Given the description of an element on the screen output the (x, y) to click on. 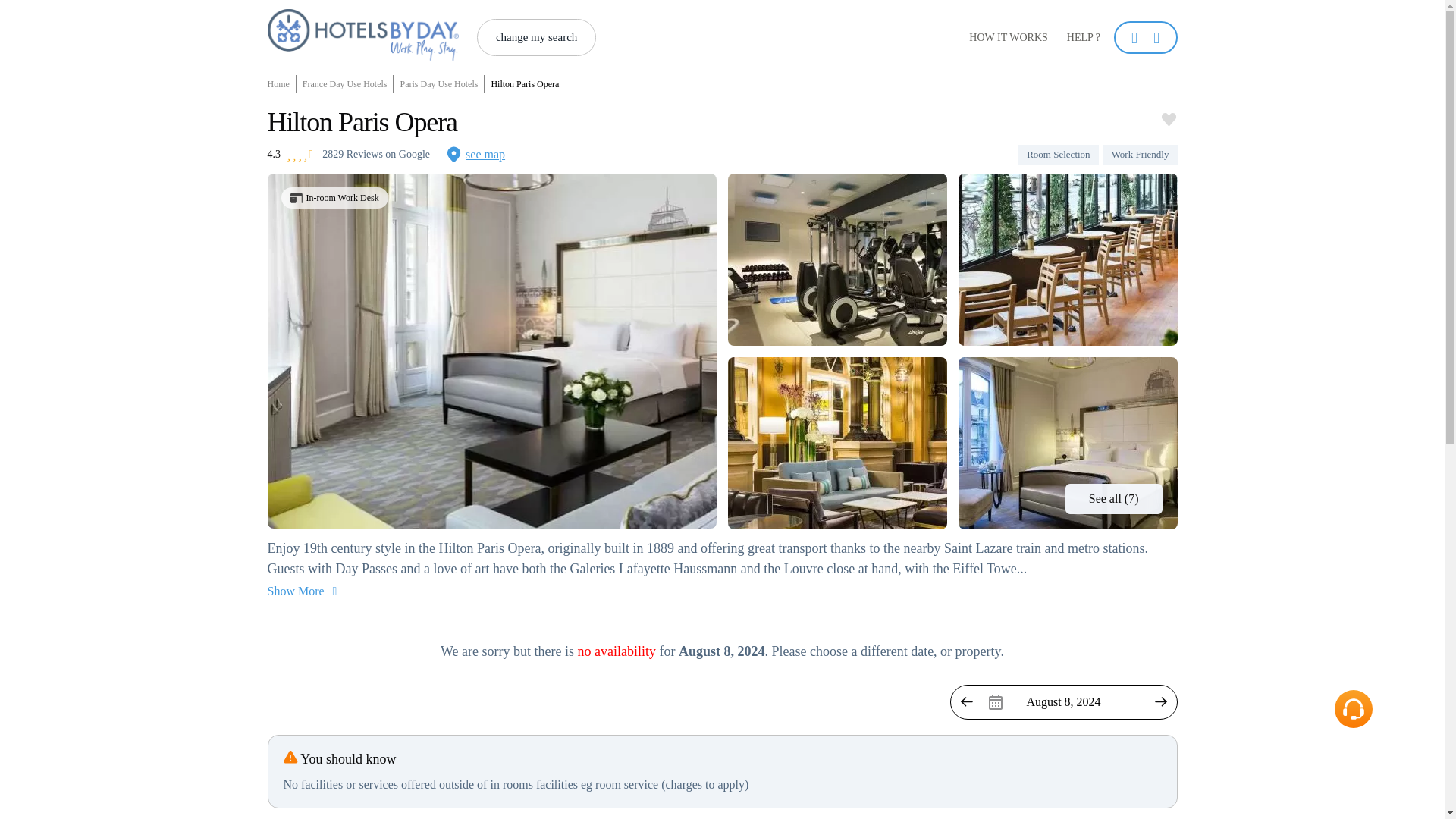
HotelsByDay (362, 56)
August 8, 2024 (1062, 701)
France Day Use Hotels (345, 84)
France Day Use Hotels (345, 84)
Home (280, 84)
Home (280, 84)
HELP ? (1083, 37)
Paris Day Use Hotels (438, 84)
change my search (536, 37)
HotelsByDay (362, 34)
